Given the description of an element on the screen output the (x, y) to click on. 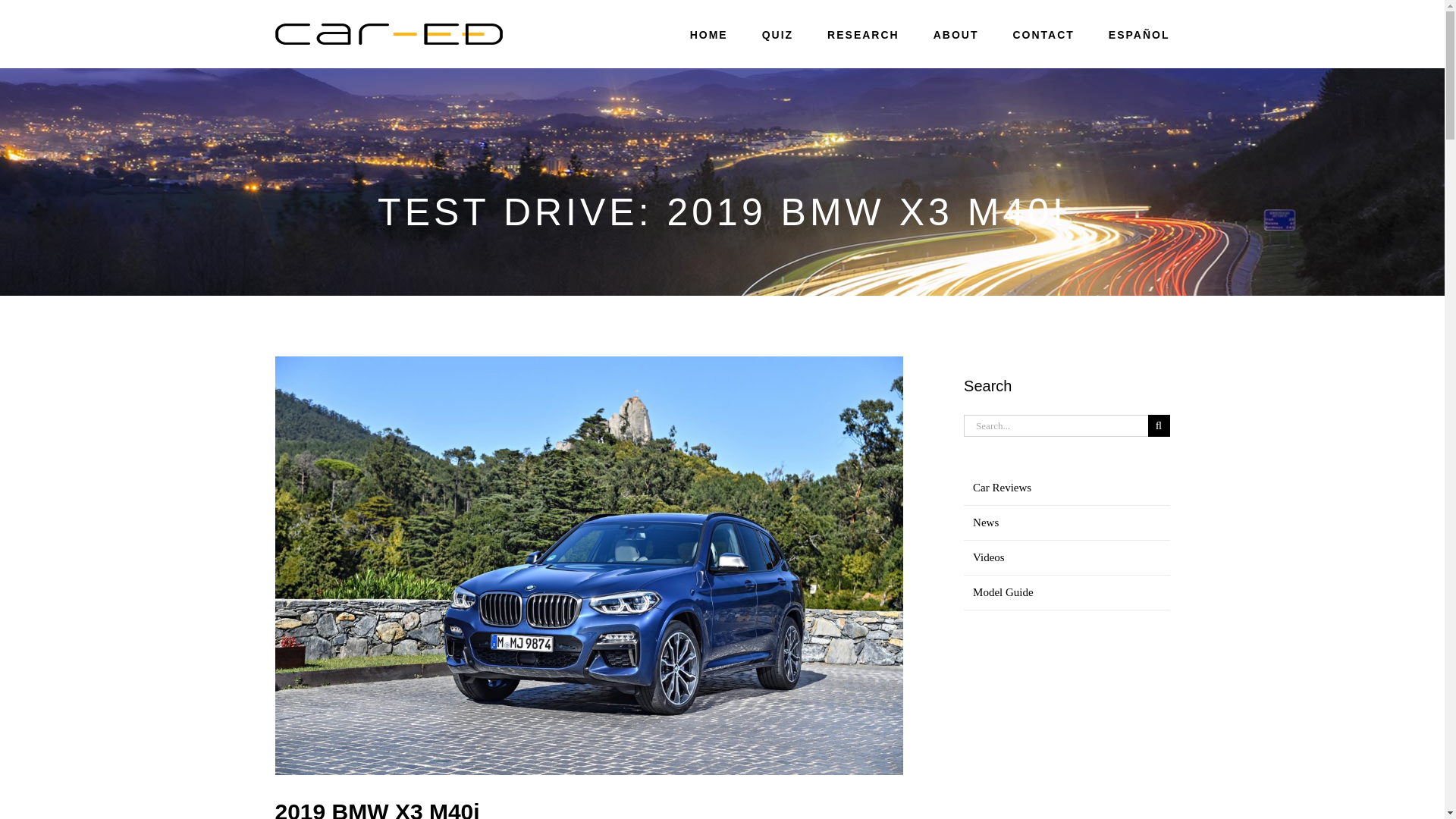
RESEARCH (863, 34)
CONTACT (1042, 34)
Advertisement (1066, 731)
